Given the description of an element on the screen output the (x, y) to click on. 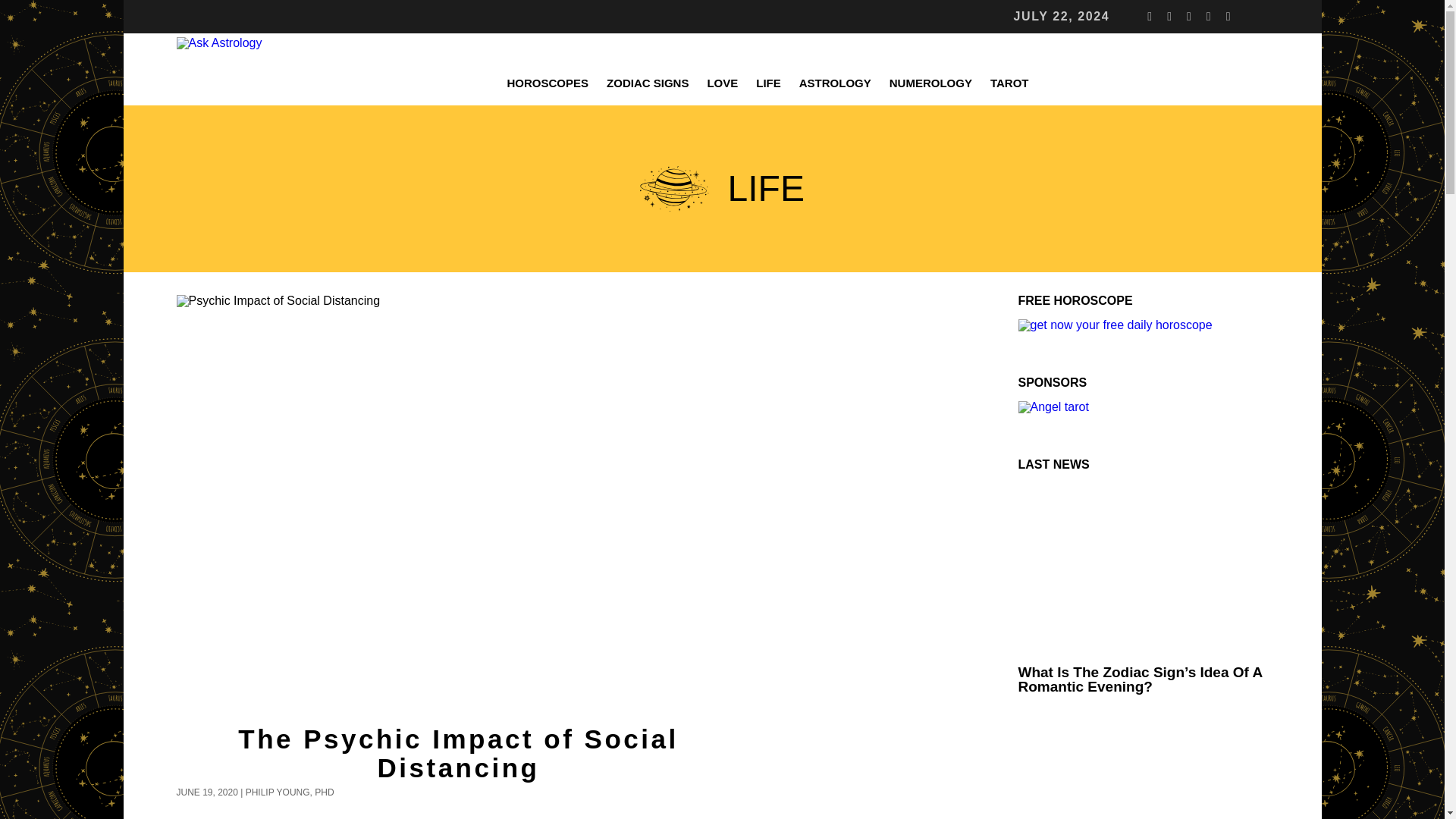
JULY 22, 2024 (1061, 16)
HOROSCOPES (547, 82)
ZODIAC SIGNS (646, 82)
